Given the description of an element on the screen output the (x, y) to click on. 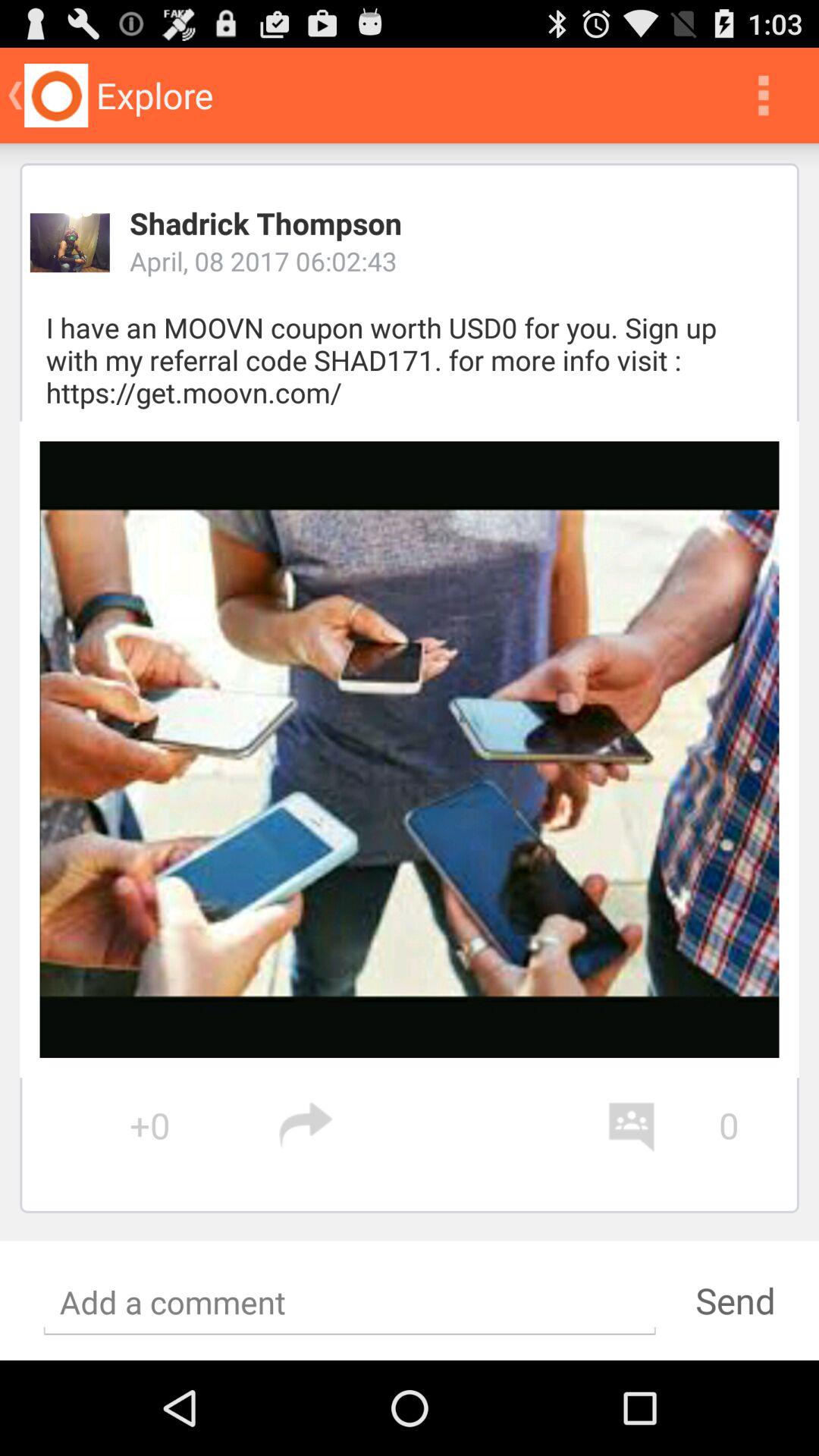
launch item above the no activity! app (442, 1125)
